Given the description of an element on the screen output the (x, y) to click on. 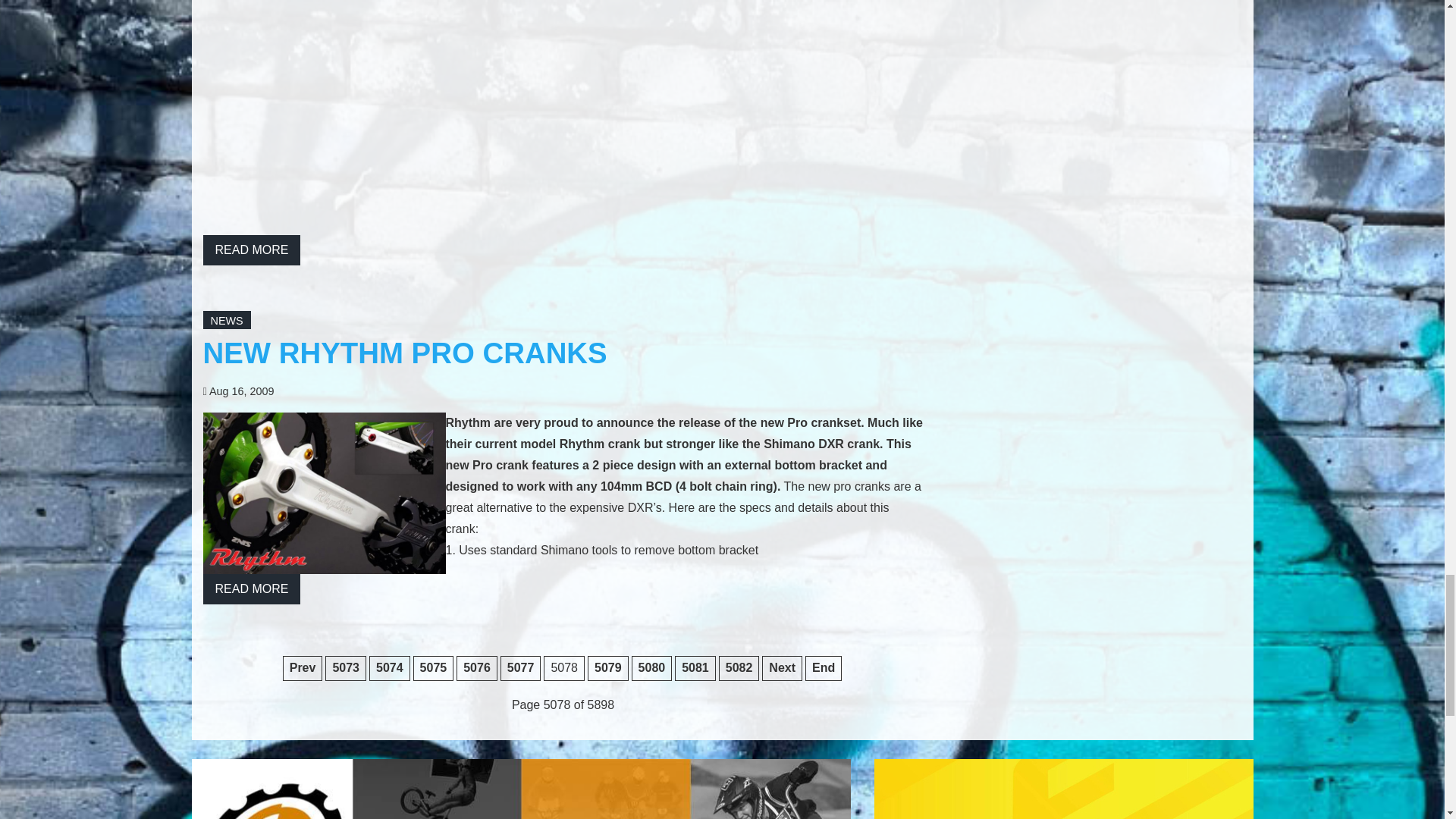
5077 (520, 668)
5080 (651, 668)
Prev (302, 668)
5079 (608, 668)
End (823, 668)
5073 (345, 668)
5074 (389, 668)
5075 (433, 668)
5082 (739, 668)
5076 (477, 668)
5081 (695, 668)
Next (781, 668)
